Given the description of an element on the screen output the (x, y) to click on. 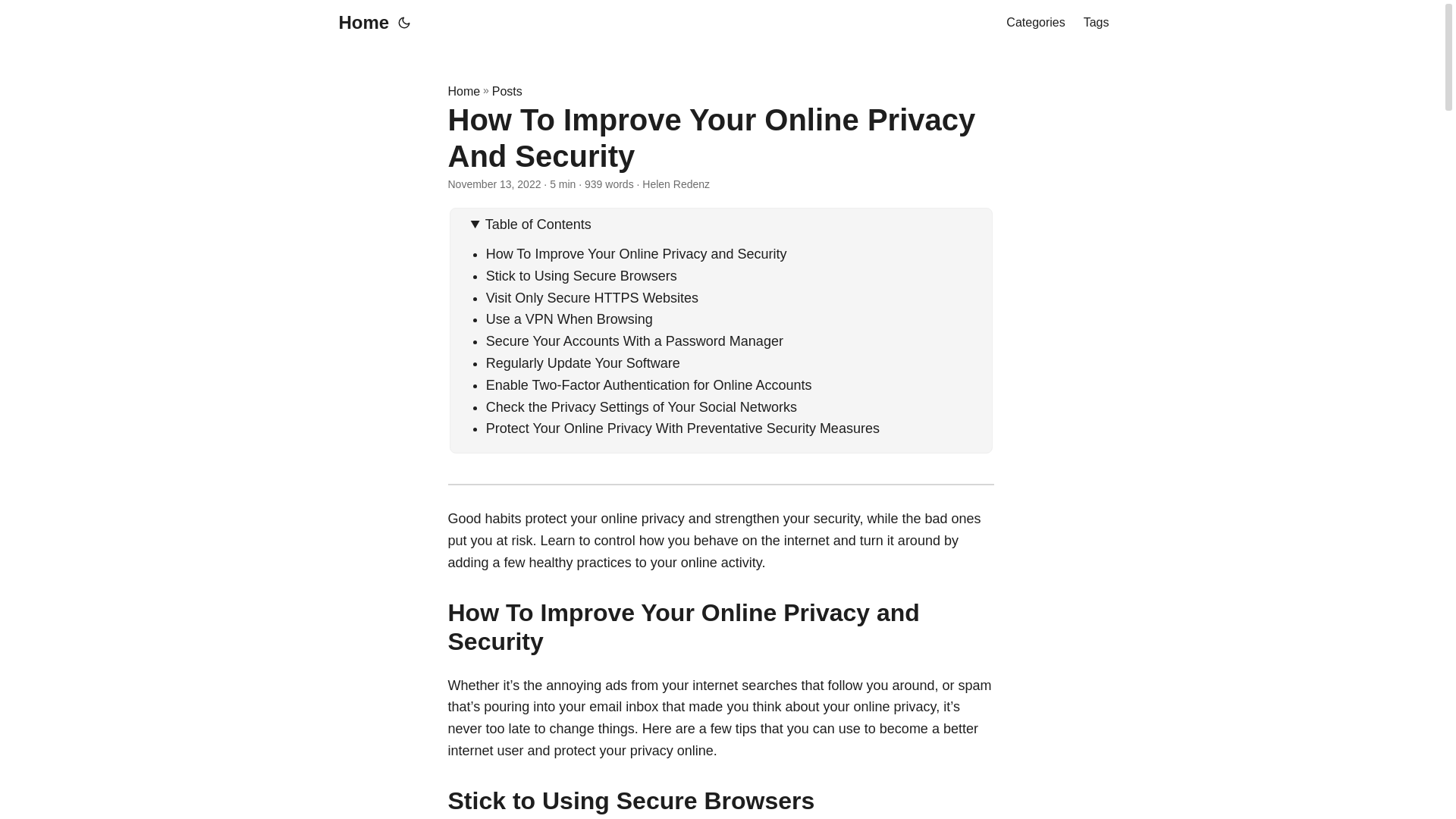
Categories (1035, 22)
Secure Your Accounts With a Password Manager (634, 340)
Enable Two-Factor Authentication for Online Accounts (649, 385)
Use a VPN When Browsing (569, 319)
Regularly Update Your Software (582, 363)
Check the Privacy Settings of Your Social Networks (641, 406)
Stick to Using Secure Browsers (581, 275)
Home (463, 91)
How To Improve Your Online Privacy and Security (636, 253)
